Given the description of an element on the screen output the (x, y) to click on. 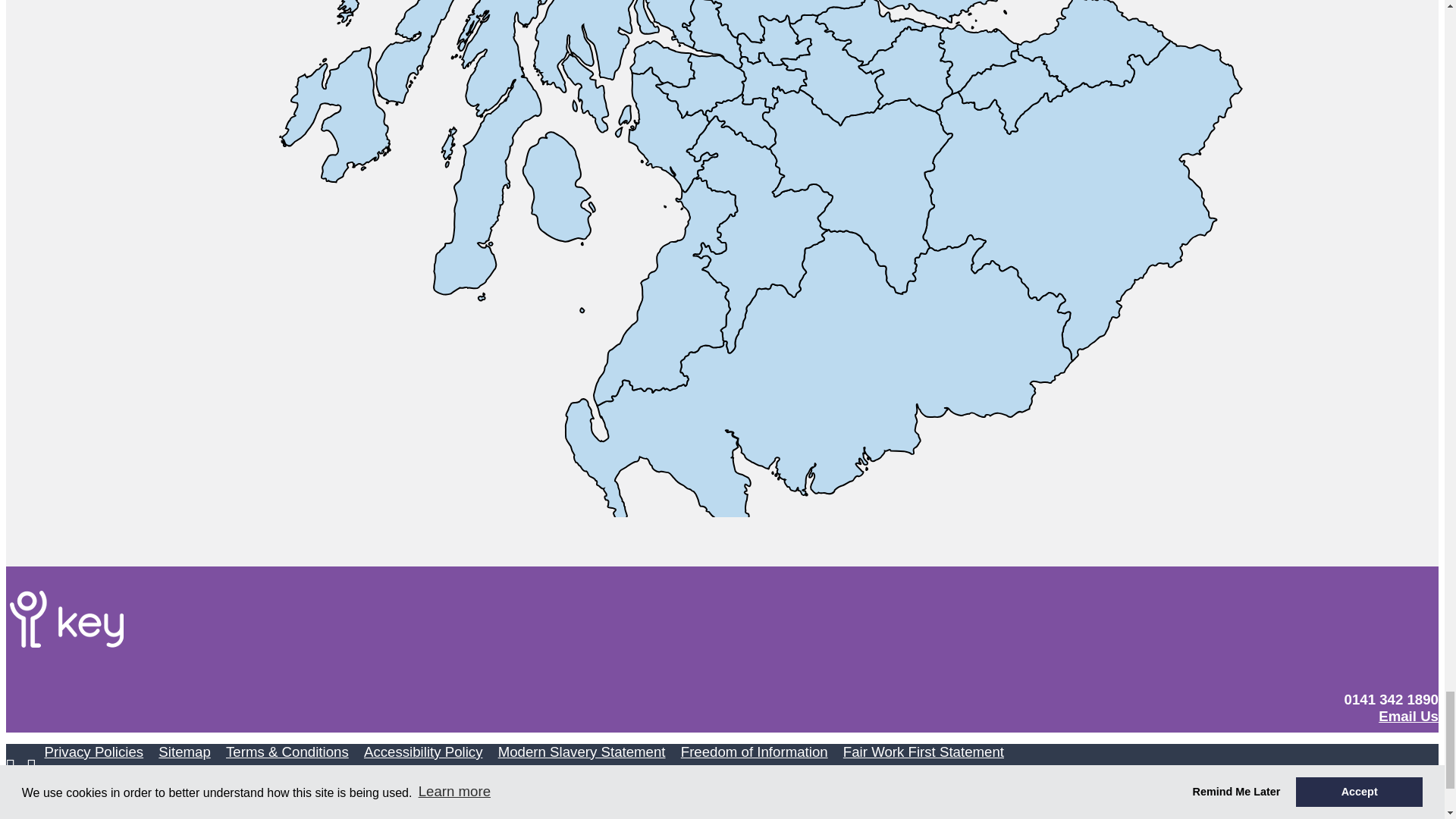
East Dunbartonshire (773, 40)
East Lothian (1092, 45)
Scottish Borders (1082, 200)
Edinburgh (978, 60)
Midlothian (1011, 91)
Falkirk (870, 32)
Fife (1002, 11)
Glasgow (772, 80)
East Renfrewshire (740, 121)
